Given the description of an element on the screen output the (x, y) to click on. 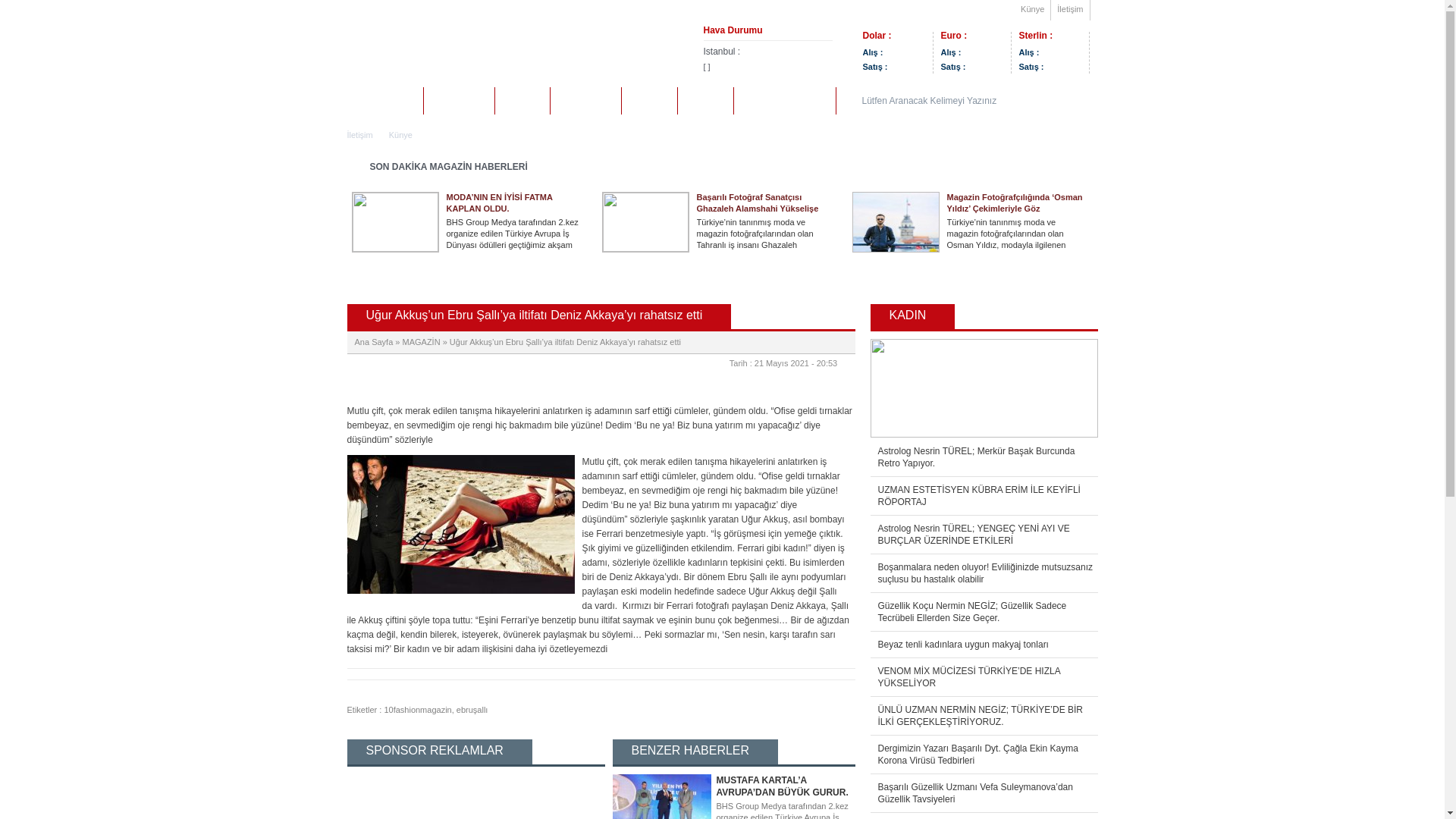
Anasayfa Element type: text (387, 99)
Ana Sayfa Element type: text (373, 341)
KADIN Element type: text (705, 99)
10fashionmagazin Element type: text (417, 709)
MODA Element type: text (522, 99)
[ ] Element type: text (767, 66)
